Given the description of an element on the screen output the (x, y) to click on. 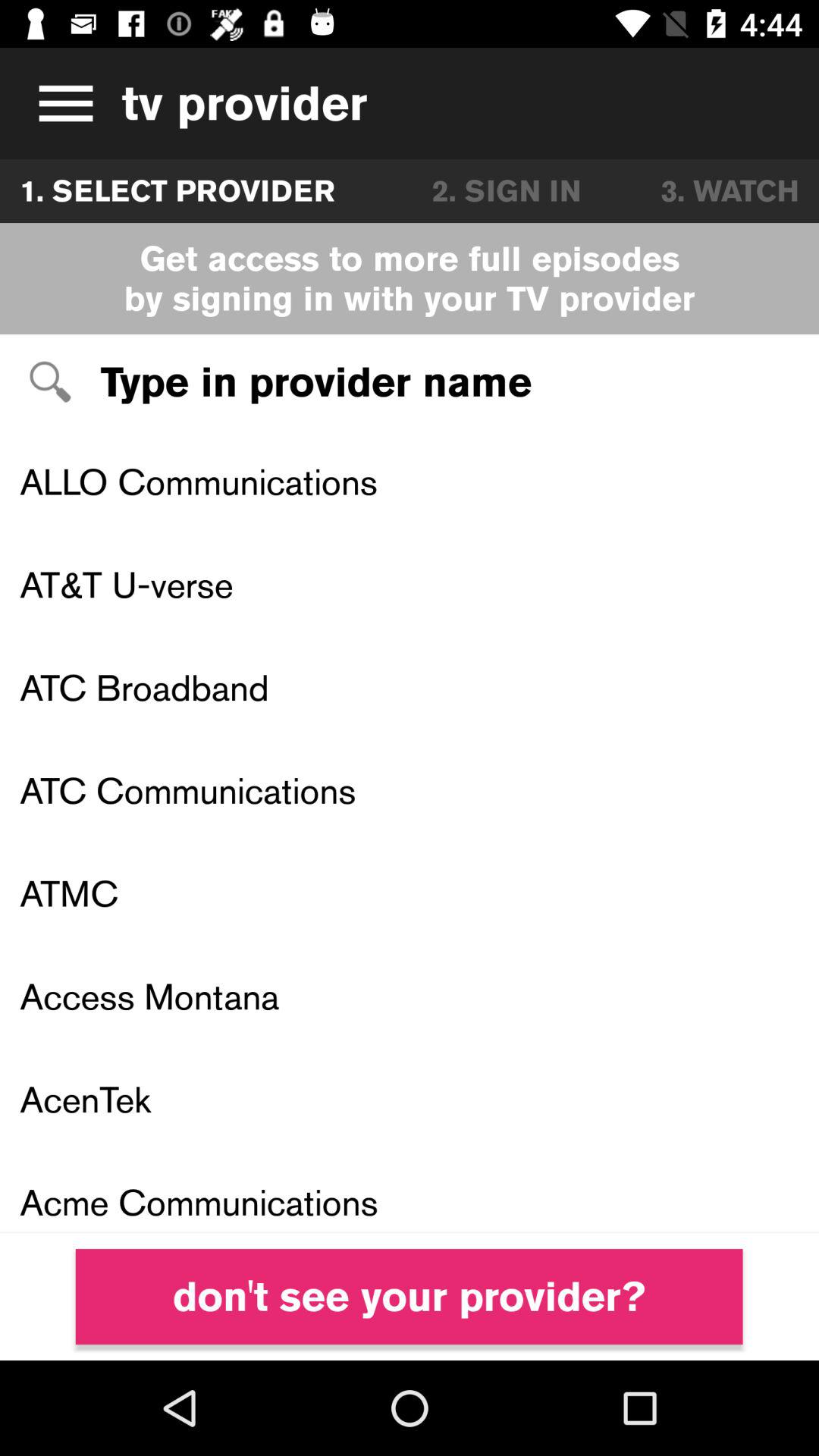
flip until the access montana icon (409, 996)
